Given the description of an element on the screen output the (x, y) to click on. 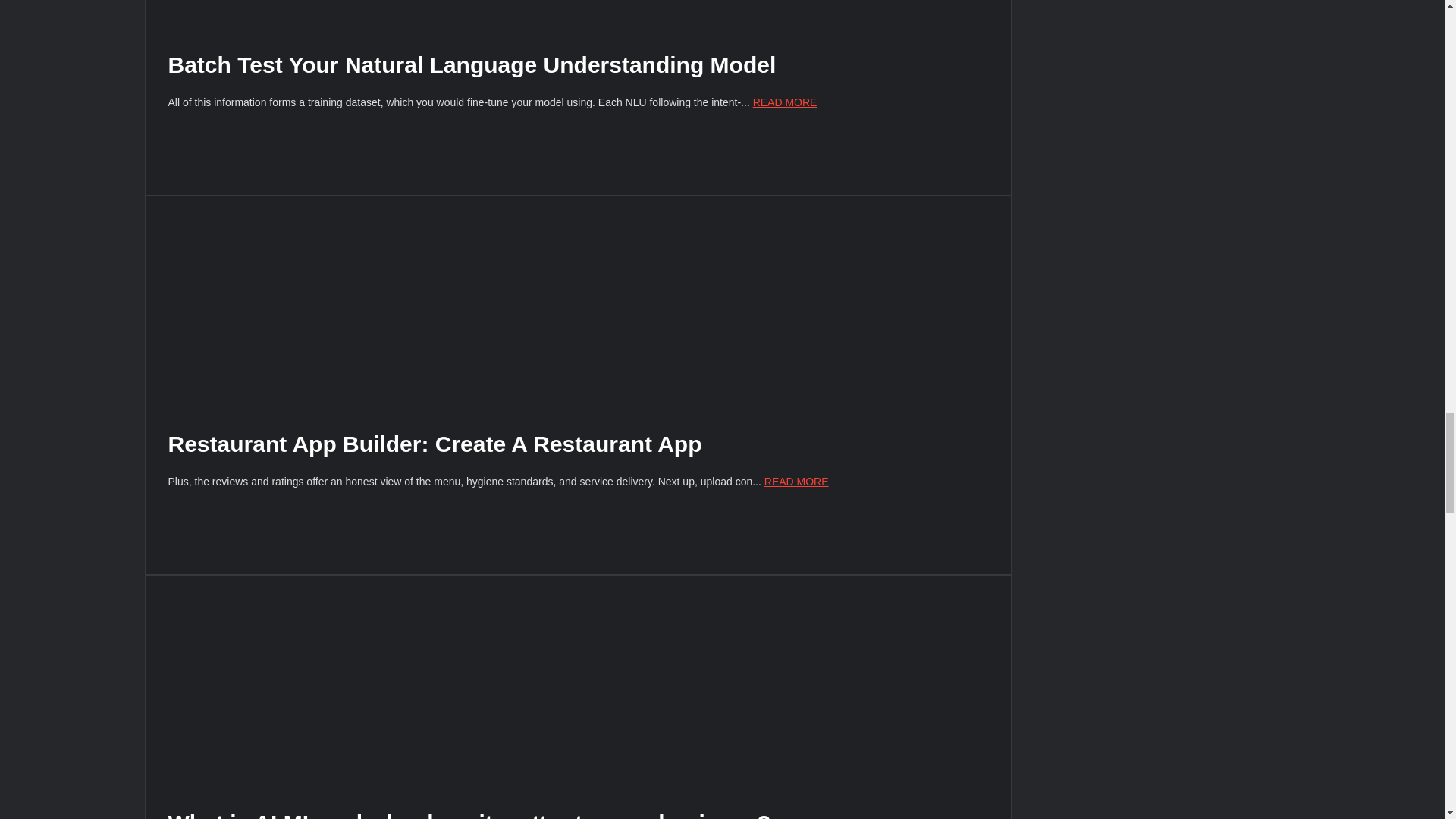
Batch Test Your Natural Language Understanding Model (472, 64)
Restaurant App Builder: Create A Restaurant App (434, 443)
READ MORE (784, 102)
What is UX Design? Differences Between UX and UI Design (578, 14)
